Given the description of an element on the screen output the (x, y) to click on. 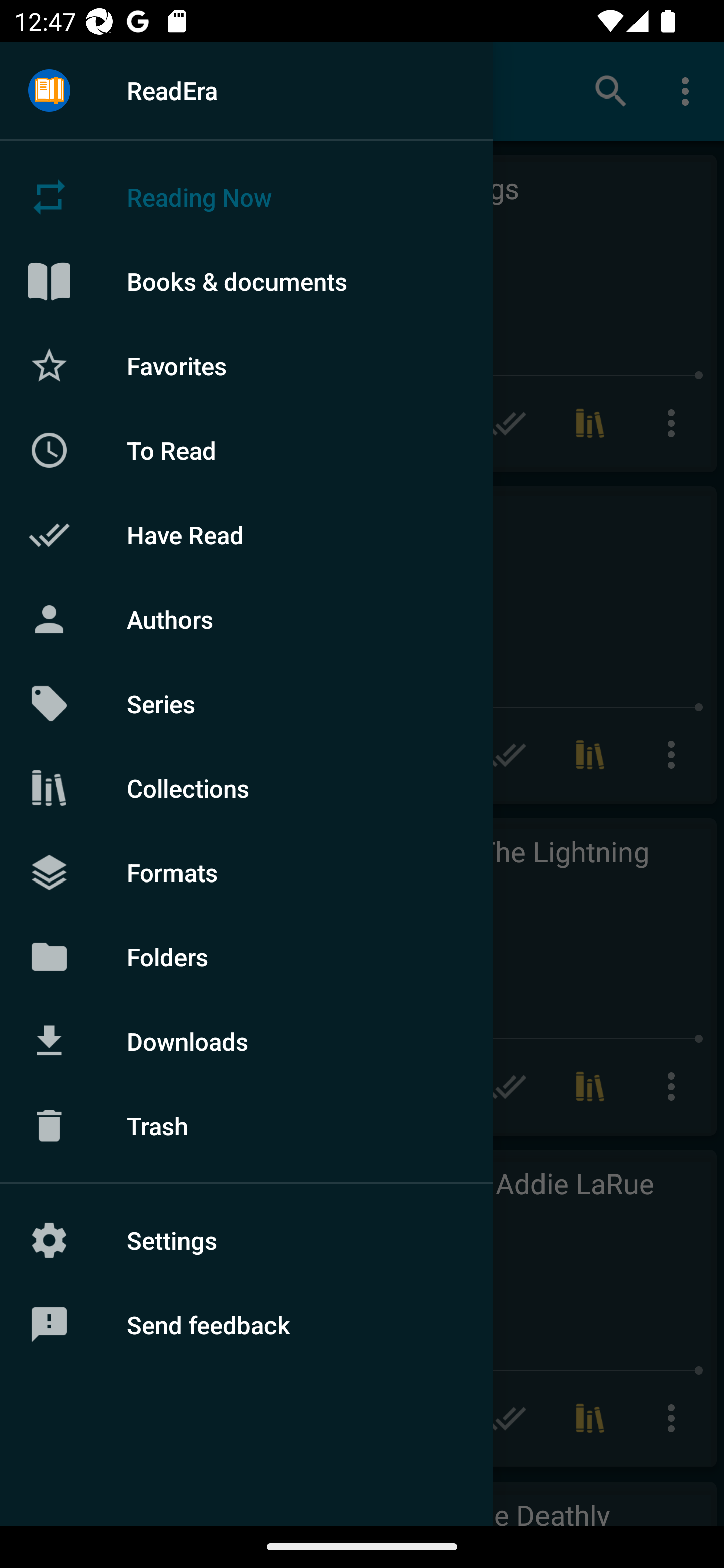
Menu (49, 91)
ReadEra (246, 89)
Search books & documents (611, 90)
More options (688, 90)
Reading Now (246, 197)
Books & documents (246, 281)
Favorites (246, 365)
To Read (246, 449)
Have Read (246, 534)
Authors (246, 619)
Series (246, 703)
Collections (246, 787)
Formats (246, 871)
Folders (246, 956)
Downloads (246, 1040)
Trash (246, 1125)
Settings (246, 1239)
Send feedback (246, 1324)
